Given the description of an element on the screen output the (x, y) to click on. 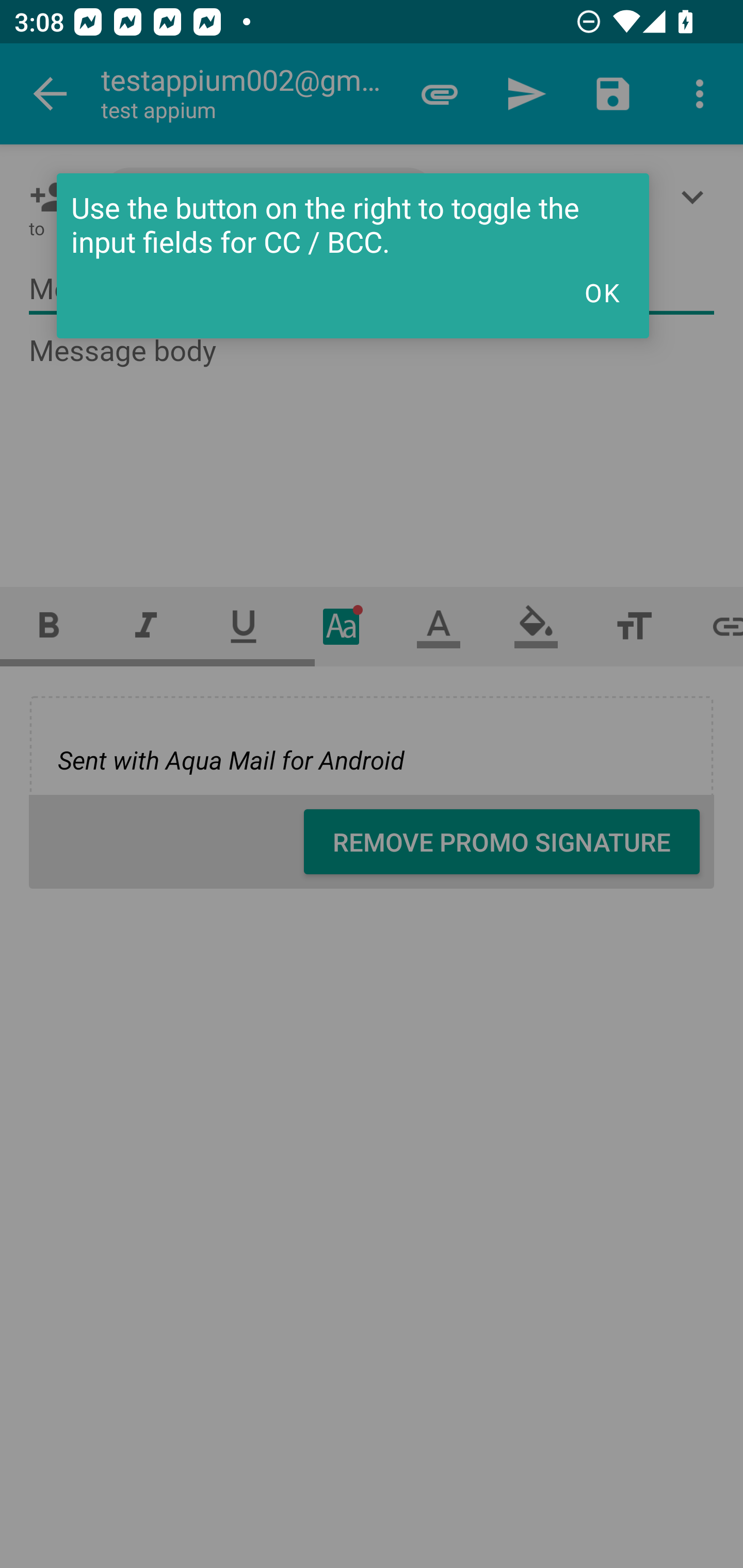
OK (601, 292)
